Given the description of an element on the screen output the (x, y) to click on. 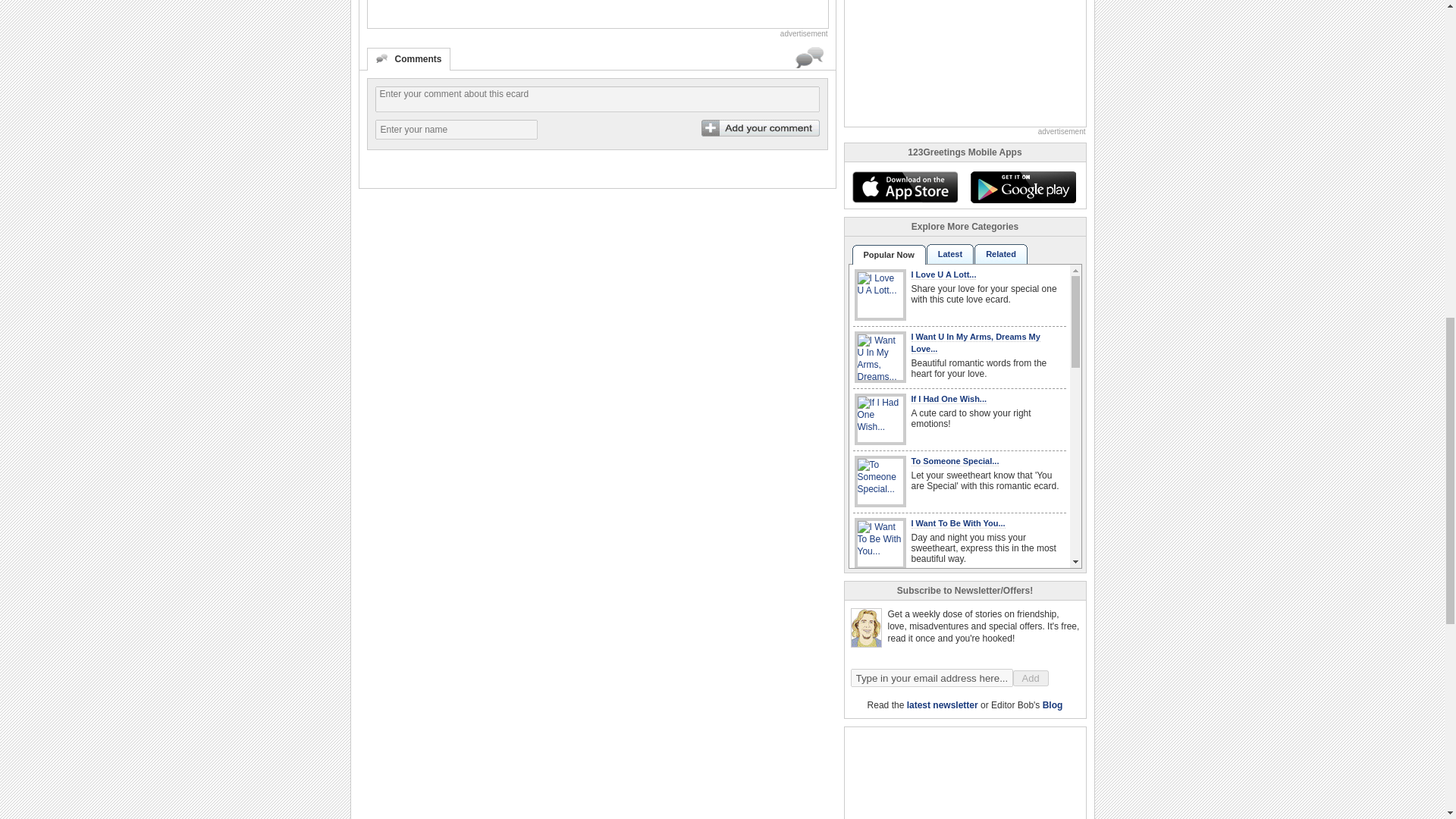
Type in your email address here... (931, 678)
